Given the description of an element on the screen output the (x, y) to click on. 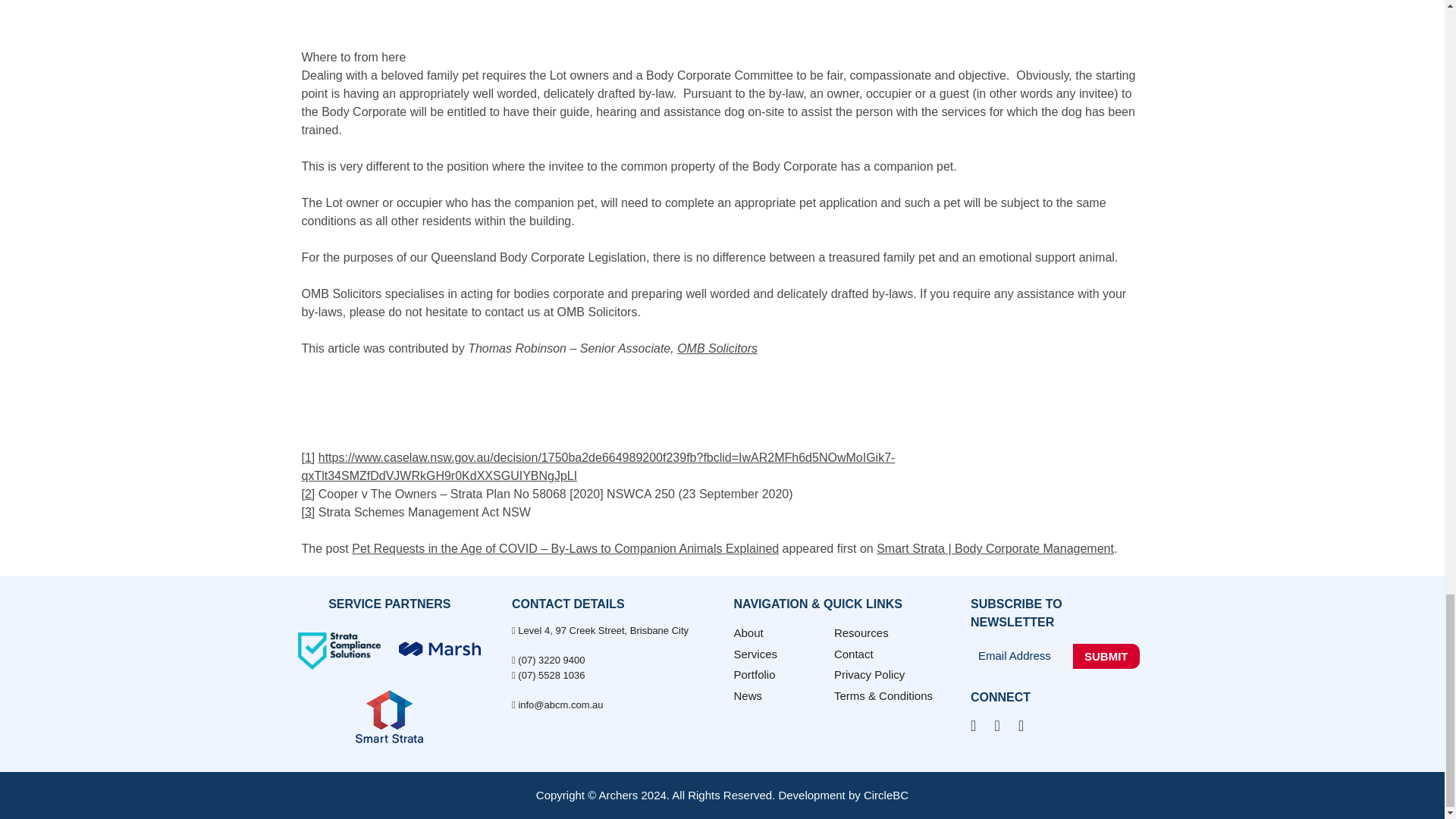
OMB Solicitors (717, 348)
News (747, 695)
About (747, 632)
Services (755, 653)
Submit (1106, 656)
Portfolio (754, 674)
